Given the description of an element on the screen output the (x, y) to click on. 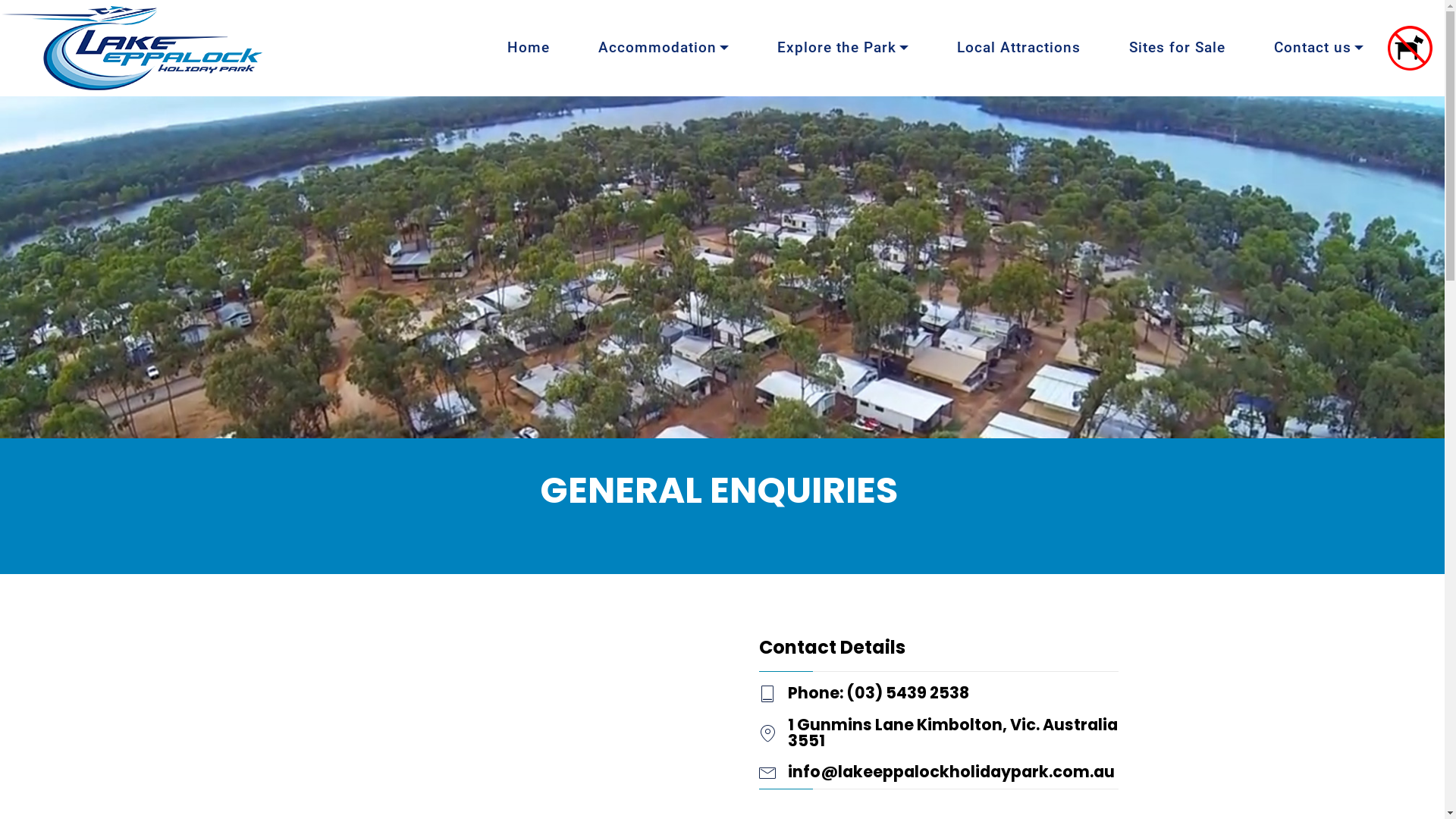
Home Element type: text (528, 48)
Sites for Sale Element type: text (1177, 48)
Explore the Park Element type: text (842, 48)
Contact us Element type: text (1318, 48)
Accommodation Element type: text (663, 48)
Local Attractions Element type: text (1018, 48)
